Given the description of an element on the screen output the (x, y) to click on. 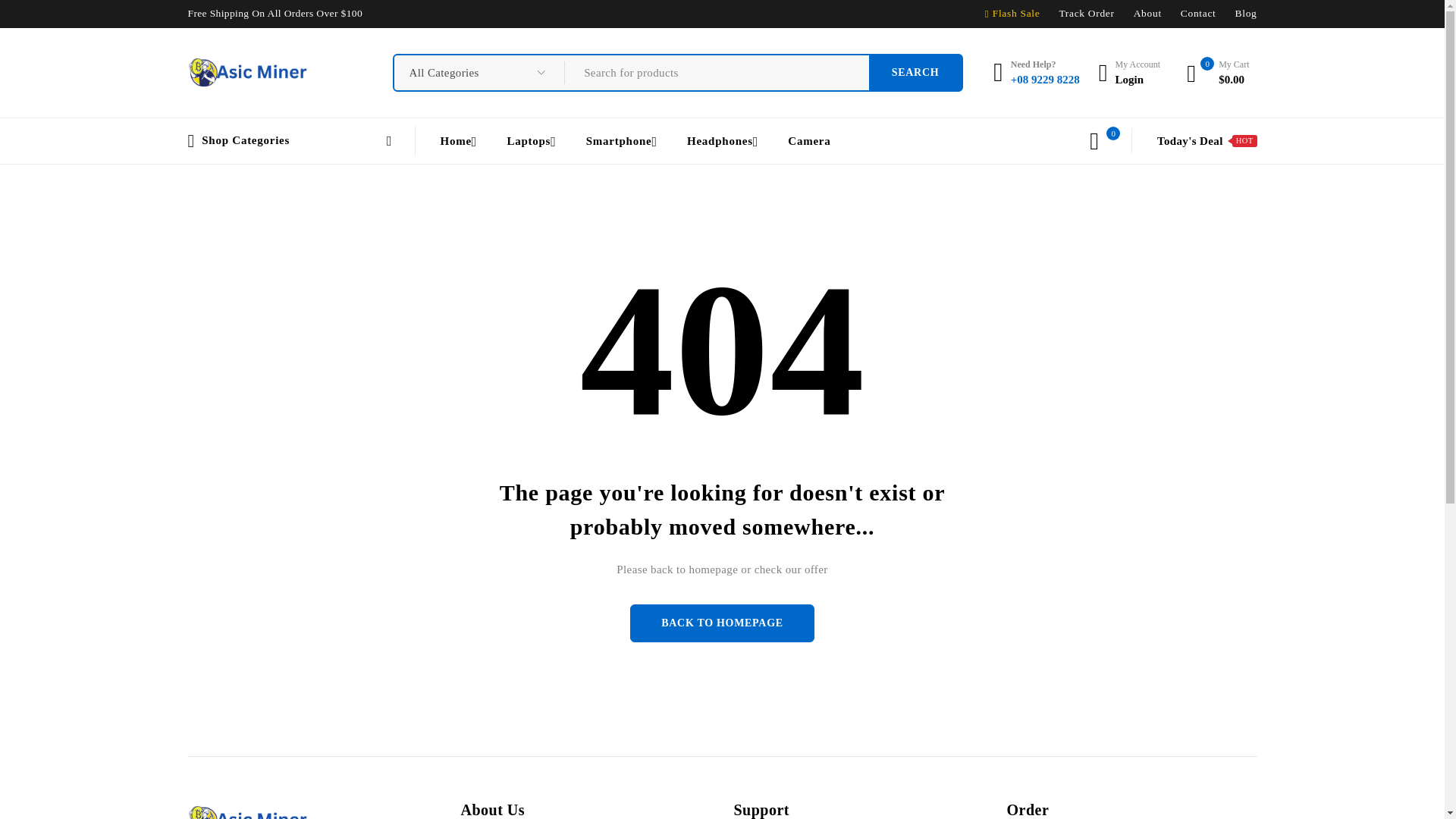
Contact (1197, 13)
Search (915, 72)
Search (915, 72)
Blog (1245, 13)
Flash Sale (1016, 13)
Search (915, 72)
Wishlist (1093, 140)
About (1147, 13)
Ecomall (247, 72)
Track Order (1085, 13)
